Given the description of an element on the screen output the (x, y) to click on. 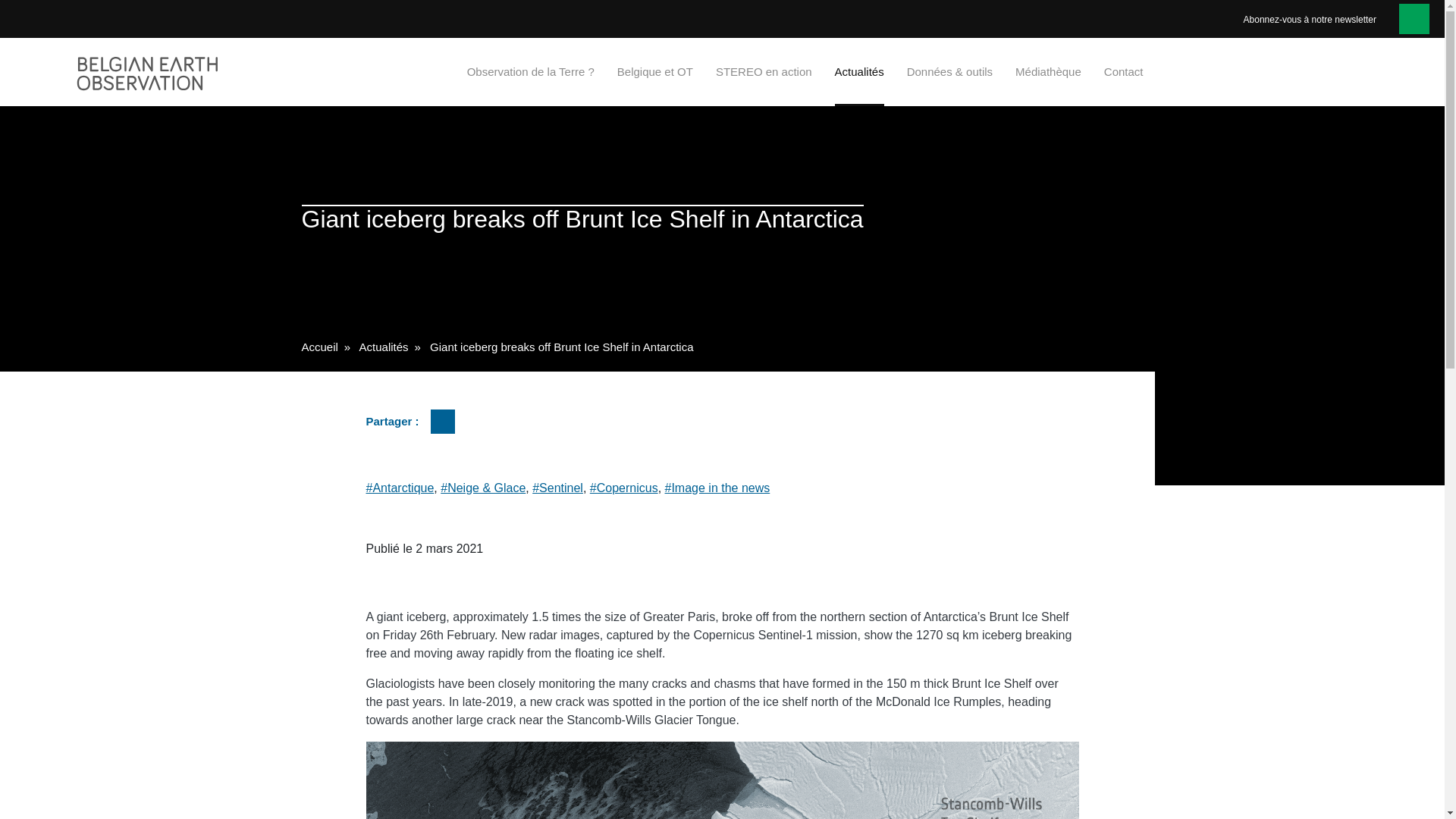
Belgique et OT (655, 71)
STEREO en action (764, 71)
Accueil (319, 346)
Observation de la Terre ? (530, 71)
